Given the description of an element on the screen output the (x, y) to click on. 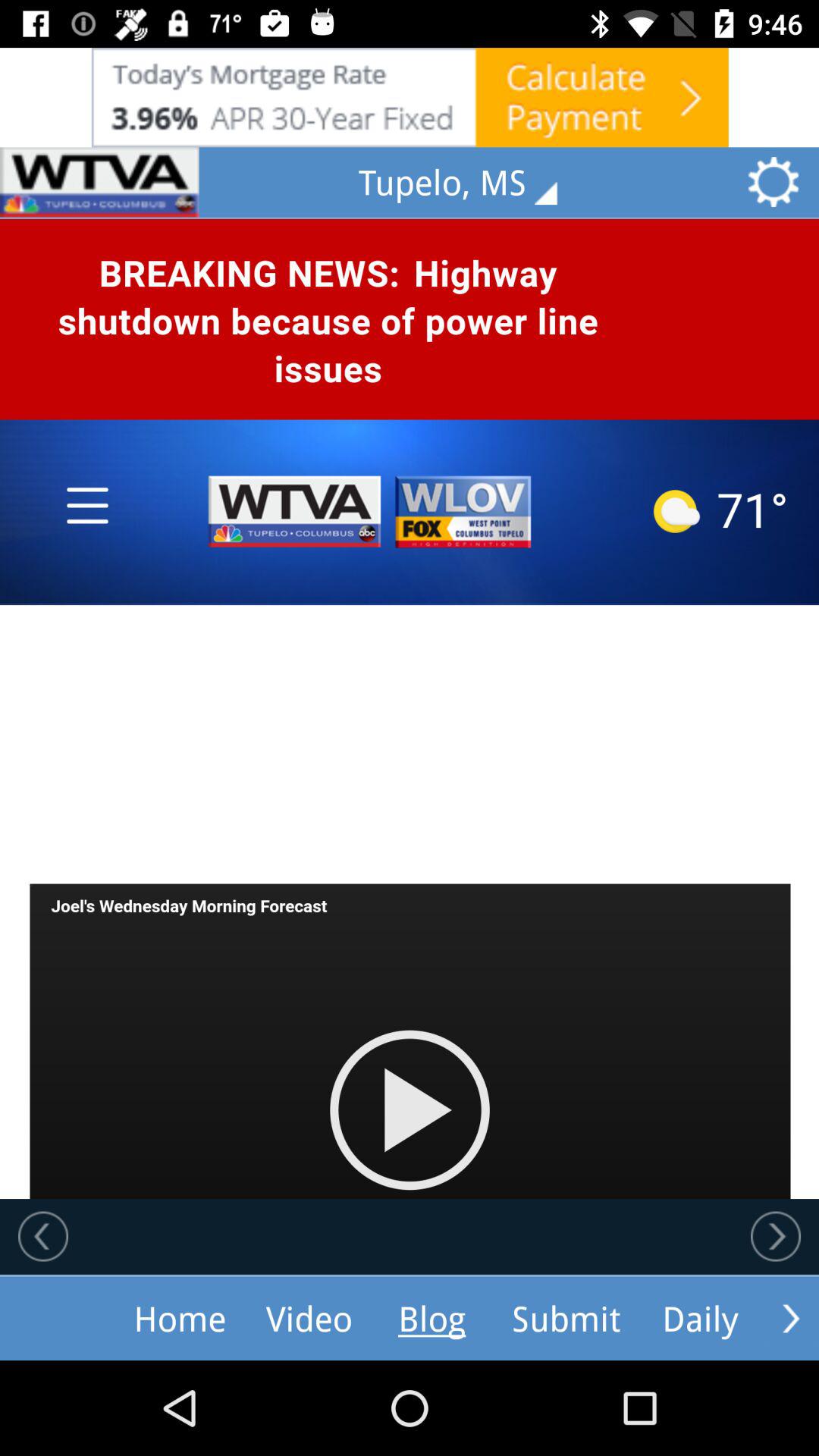
go to next story (775, 1236)
